Given the description of an element on the screen output the (x, y) to click on. 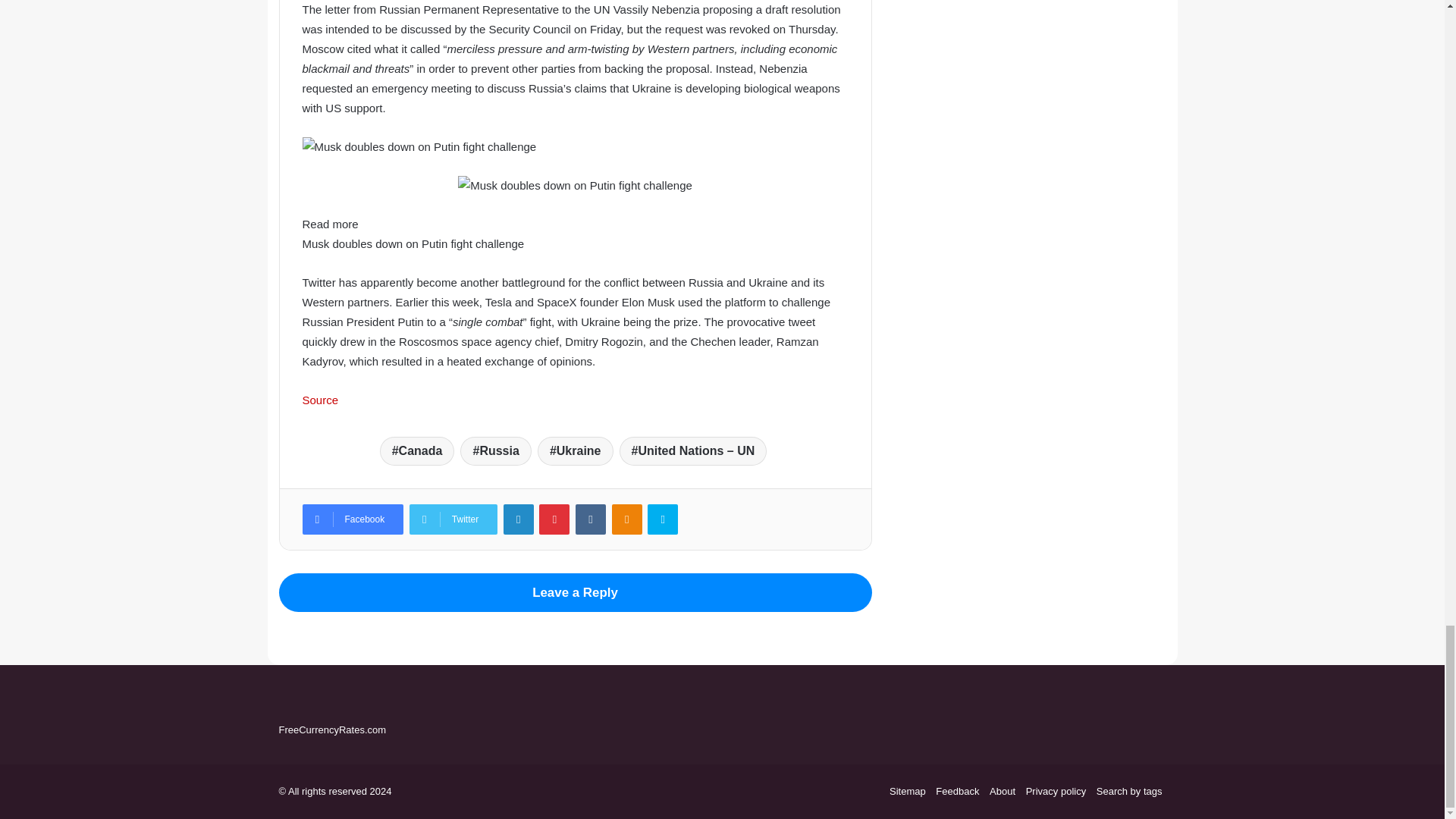
Facebook (352, 519)
Canada (417, 451)
Skype (662, 519)
Odnoklassniki (626, 519)
Pinterest (553, 519)
LinkedIn (518, 519)
Ukraine (574, 451)
Source (319, 399)
Twitter (453, 519)
Russia (495, 451)
